Given the description of an element on the screen output the (x, y) to click on. 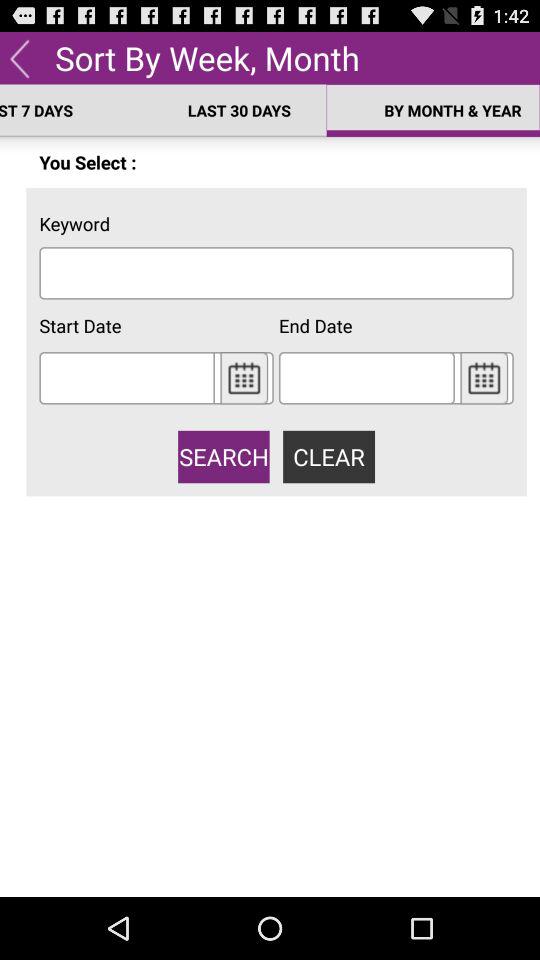
open app to the left of the sort by week (19, 57)
